Given the description of an element on the screen output the (x, y) to click on. 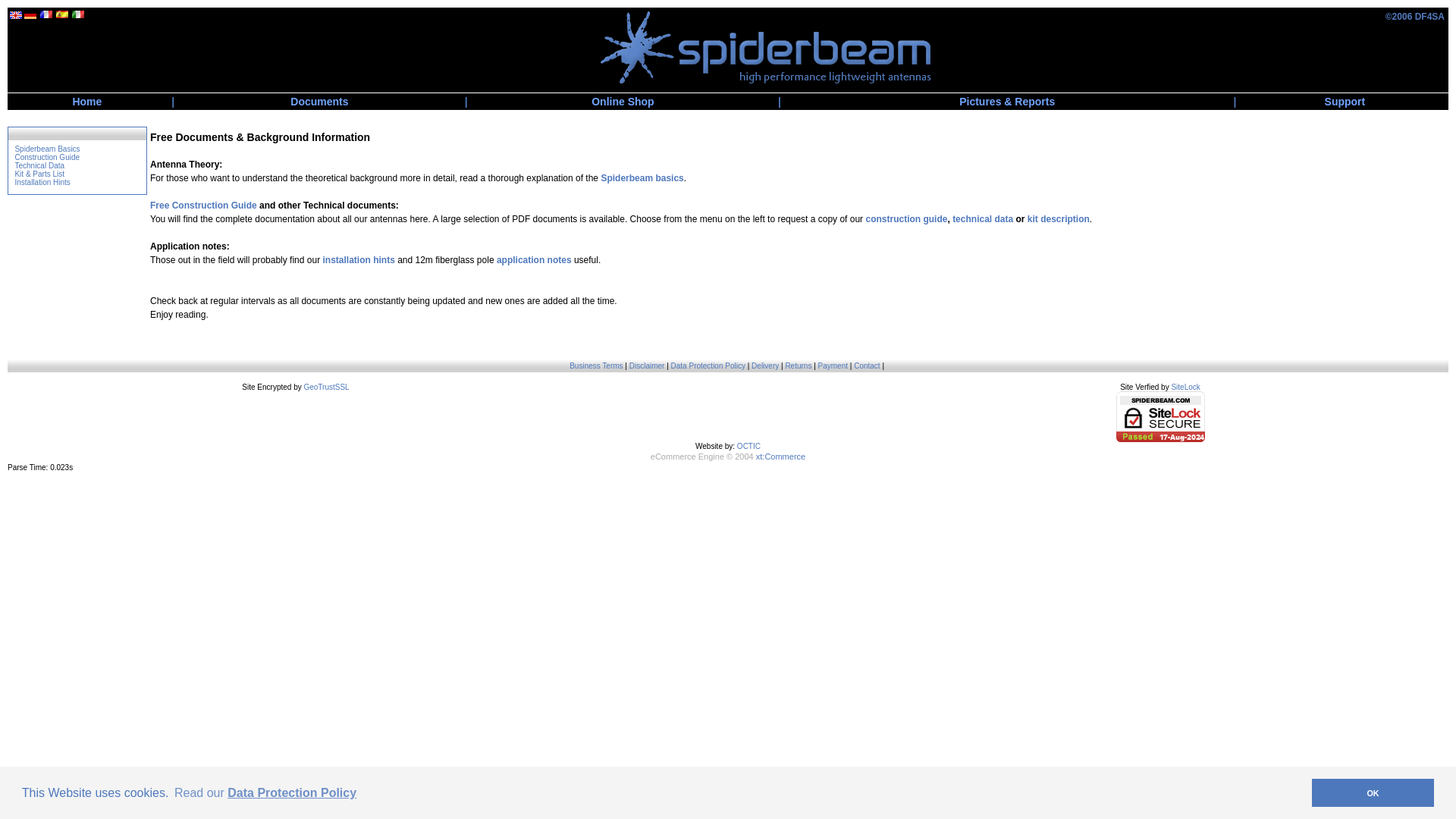
Deutsch (30, 14)
Data Protection Policy (708, 365)
SiteLock (1184, 387)
Spiderbeam basics (640, 177)
Payment (832, 365)
English (15, 14)
Support (1344, 101)
Documents (318, 101)
octic.eu (748, 446)
OCTIC (748, 446)
